Given the description of an element on the screen output the (x, y) to click on. 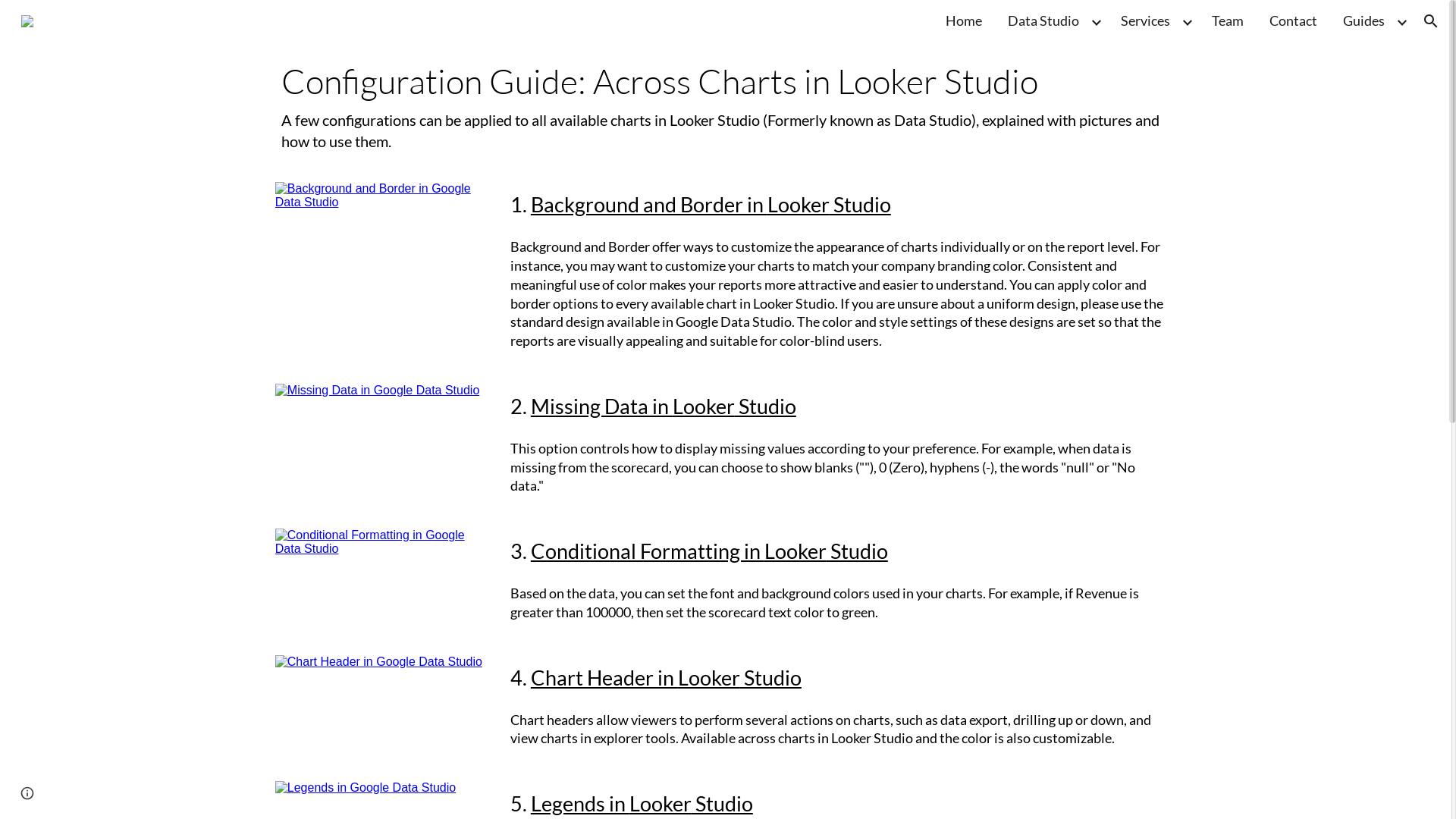
Conditional Formatting in  Element type: text (647, 551)
Expand/Collapse Element type: hover (1401, 21)
Looker Studio Element type: text (793, 302)
 Studio Element type: text (770, 677)
Background and Border in  Element type: text (648, 204)
.  Element type: text (526, 406)
Contact Element type: text (1292, 21)
Team Element type: text (1227, 21)
 Studio Element type: text (765, 406)
Missing Data in  Element type: text (601, 406)
Expand/Collapse Element type: hover (1095, 21)
5.  Element type: text (520, 803)
 Studio Element type: text (860, 204)
 Studio Element type: text (722, 803)
Studio and the color is also customizable. Element type: text (993, 737)
1.  Element type: text (520, 204)
Looker Element type: text (660, 803)
Looker Element type: text (708, 677)
Guides Element type: text (1363, 21)
Looker Element type: text (703, 406)
Looker  Element type: text (852, 737)
Expand/Collapse Element type: hover (1186, 21)
Chart Header in  Element type: text (603, 677)
Looker Element type: text (798, 204)
Looker Element type: text (795, 551)
3.  Element type: text (520, 551)
Home Element type: text (963, 21)
Legends in  Element type: text (579, 803)
Services Element type: text (1145, 21)
 Studio Element type: text (857, 551)
4.  Element type: text (520, 677)
Data Studio Element type: text (1043, 21)
